Given the description of an element on the screen output the (x, y) to click on. 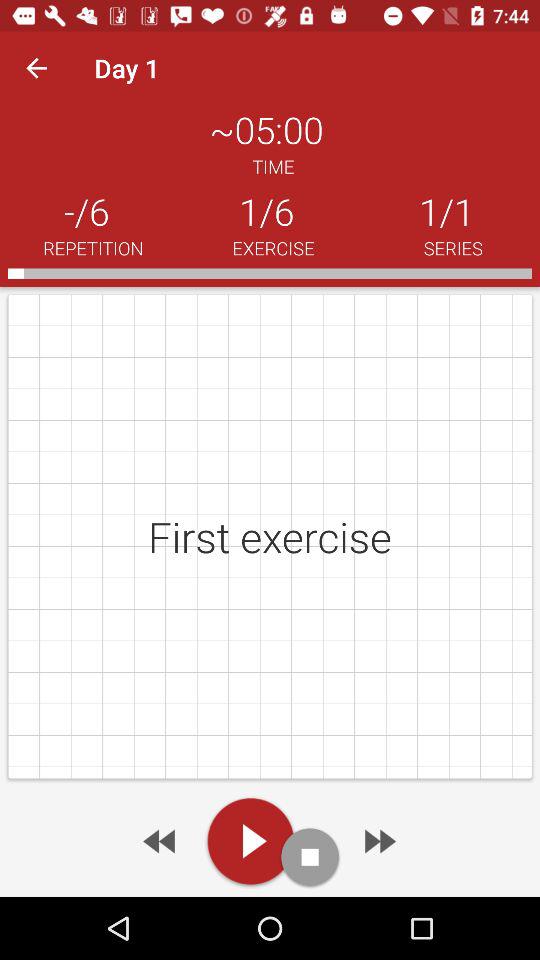
click on the previous arrow button at the bottom of the page (161, 841)
select the play icon at the bottom of the page (251, 840)
